Given the description of an element on the screen output the (x, y) to click on. 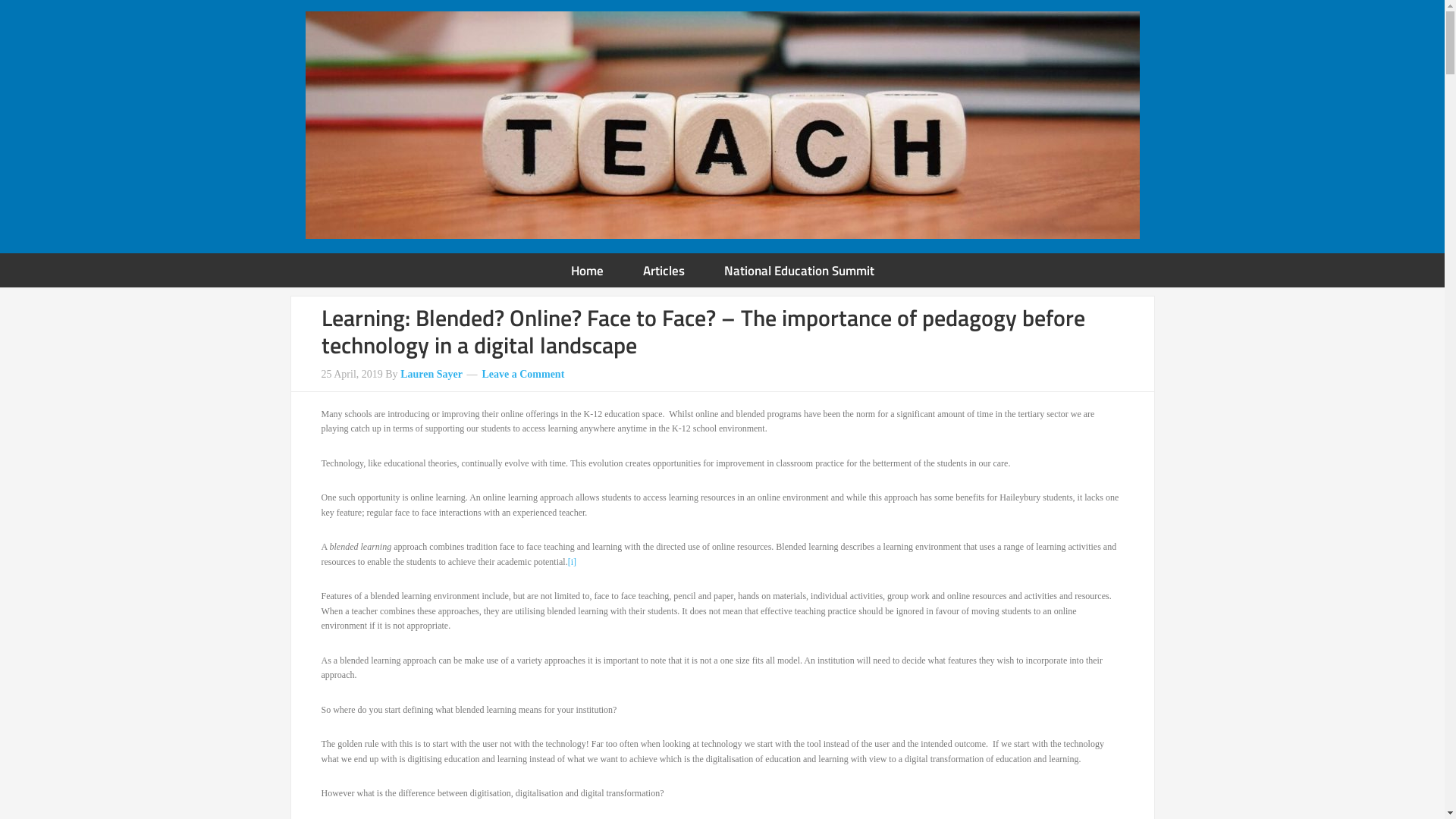
Home Element type: text (586, 270)
Lauren Sayer Element type: text (431, 373)
IWBNet Pty Ltd Element type: text (721, 124)
Leave a Comment Element type: text (522, 373)
National Education Summit Element type: text (798, 270)
Articles Element type: text (663, 270)
[i] Element type: text (571, 561)
